Given the description of an element on the screen output the (x, y) to click on. 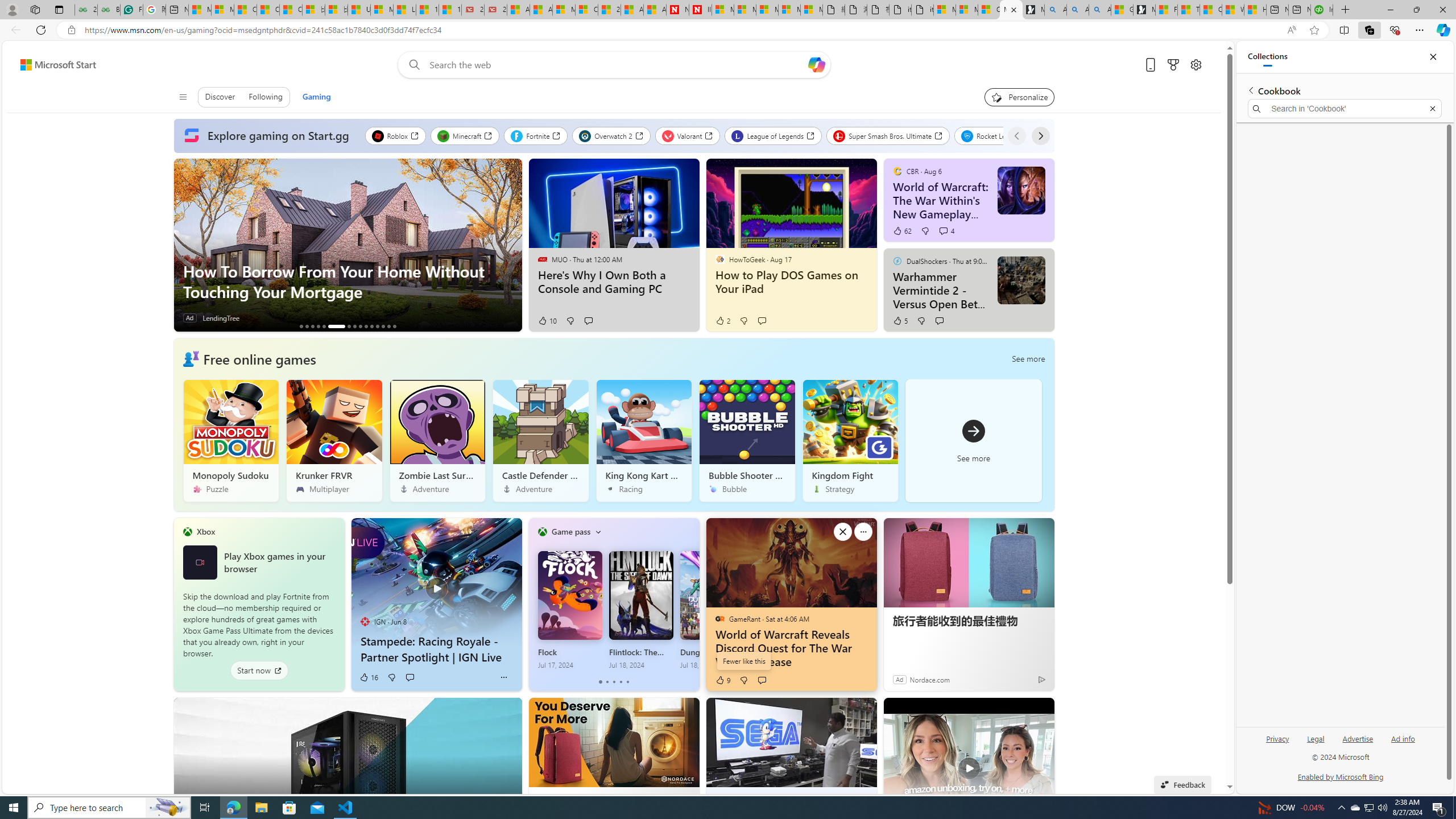
Class: background-image-ntp-v2 (850, 422)
How to Play DOS Games on Your iPad (790, 281)
Back to list of collections (1250, 90)
tab-2 (613, 682)
Gaming (316, 96)
Monopoly Sudoku (230, 440)
Personalize your feed" (1019, 97)
